Given the description of an element on the screen output the (x, y) to click on. 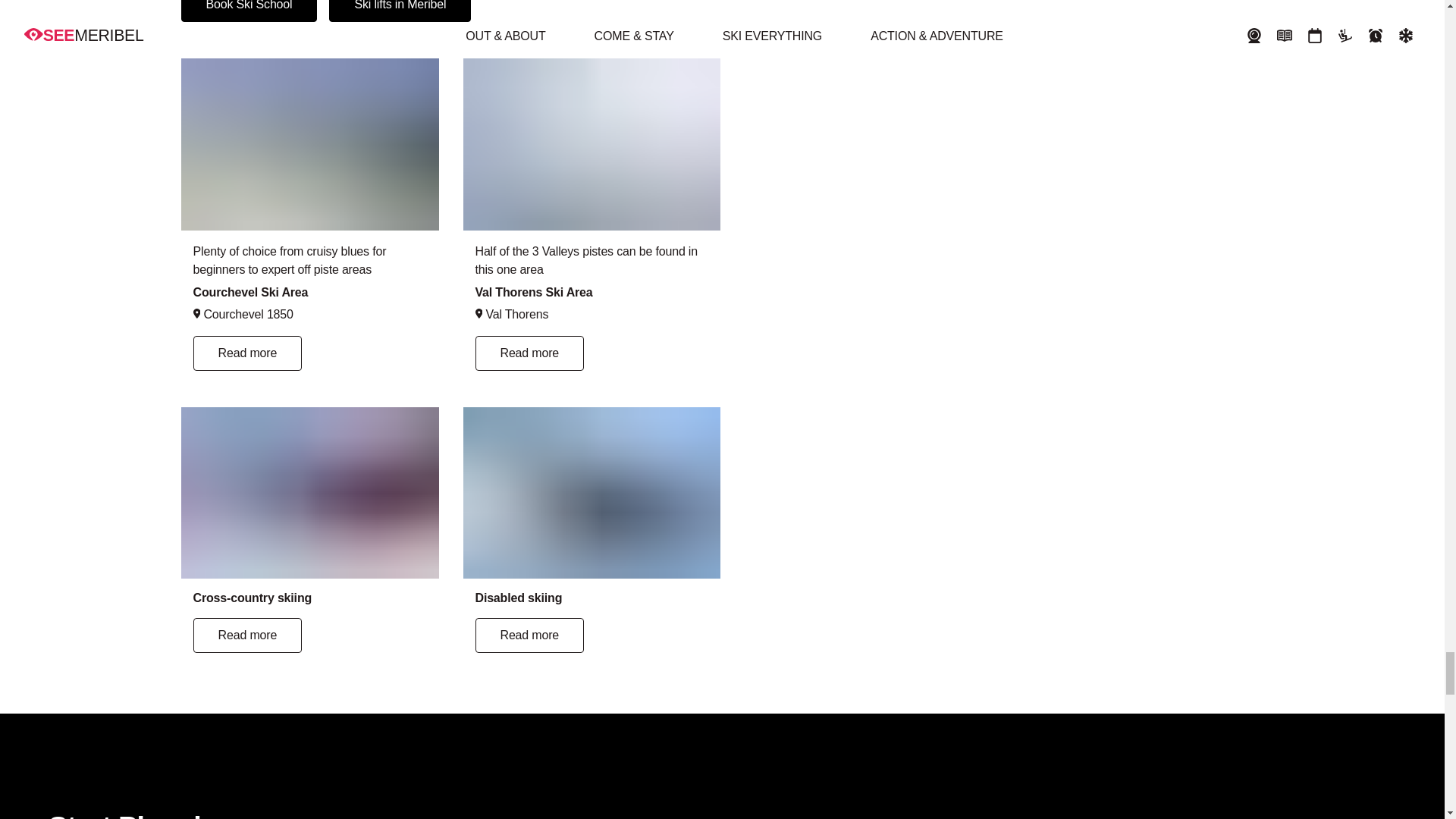
Details about Courchevel Ski Area (309, 306)
Cross-country skiing (309, 493)
Val Thorens Ski Area (591, 144)
Disabled skiing (591, 493)
Courchevel Ski Area (309, 144)
Details about Disabled skiing (591, 621)
Details about Cross-country skiing (309, 621)
Details about Val Thorens Ski Area (591, 306)
